Given the description of an element on the screen output the (x, y) to click on. 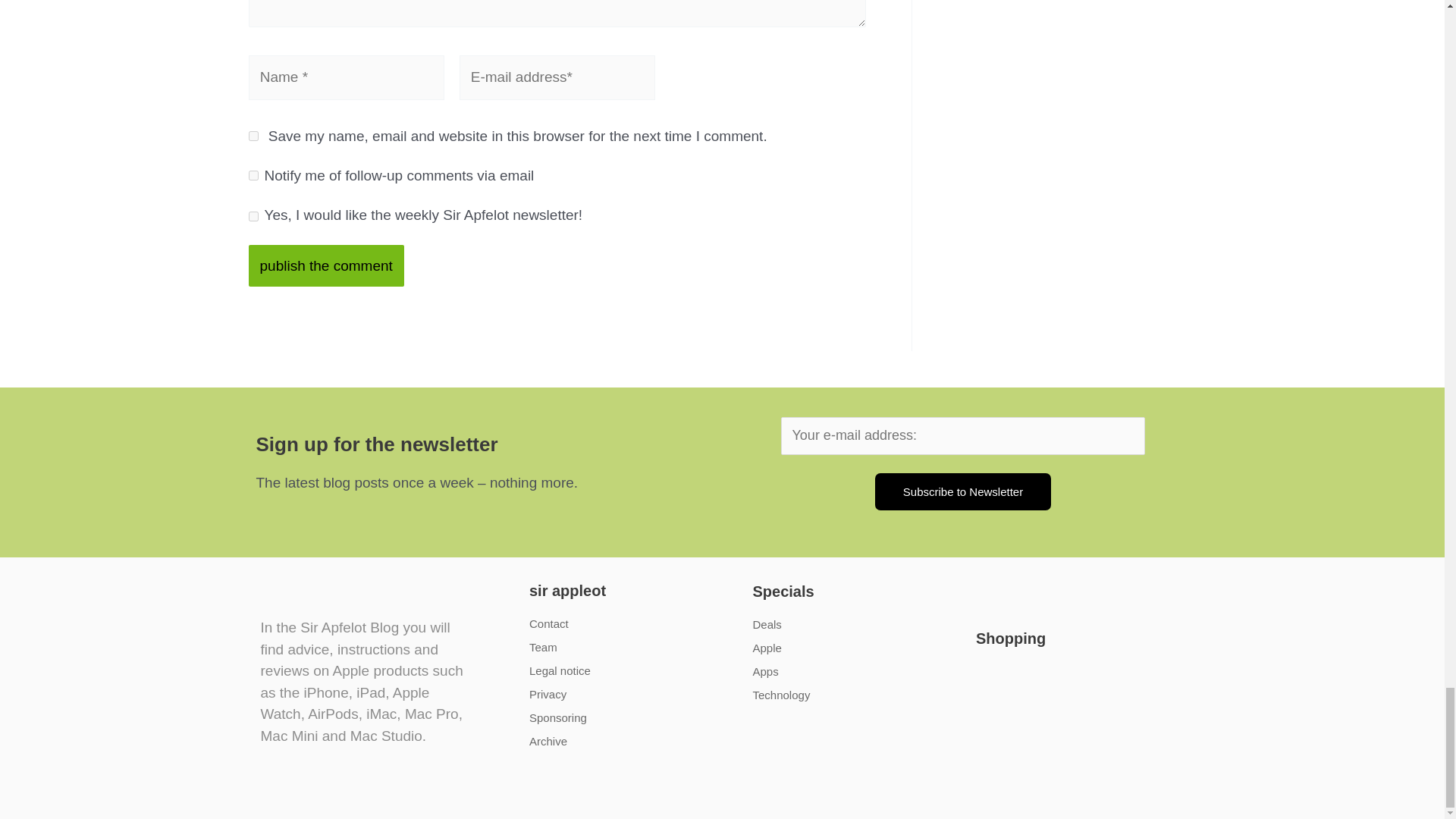
publish the comment (326, 265)
1 (253, 216)
yes (253, 135)
Subscribe to Newsletter (963, 491)
subscribe (253, 175)
